Given the description of an element on the screen output the (x, y) to click on. 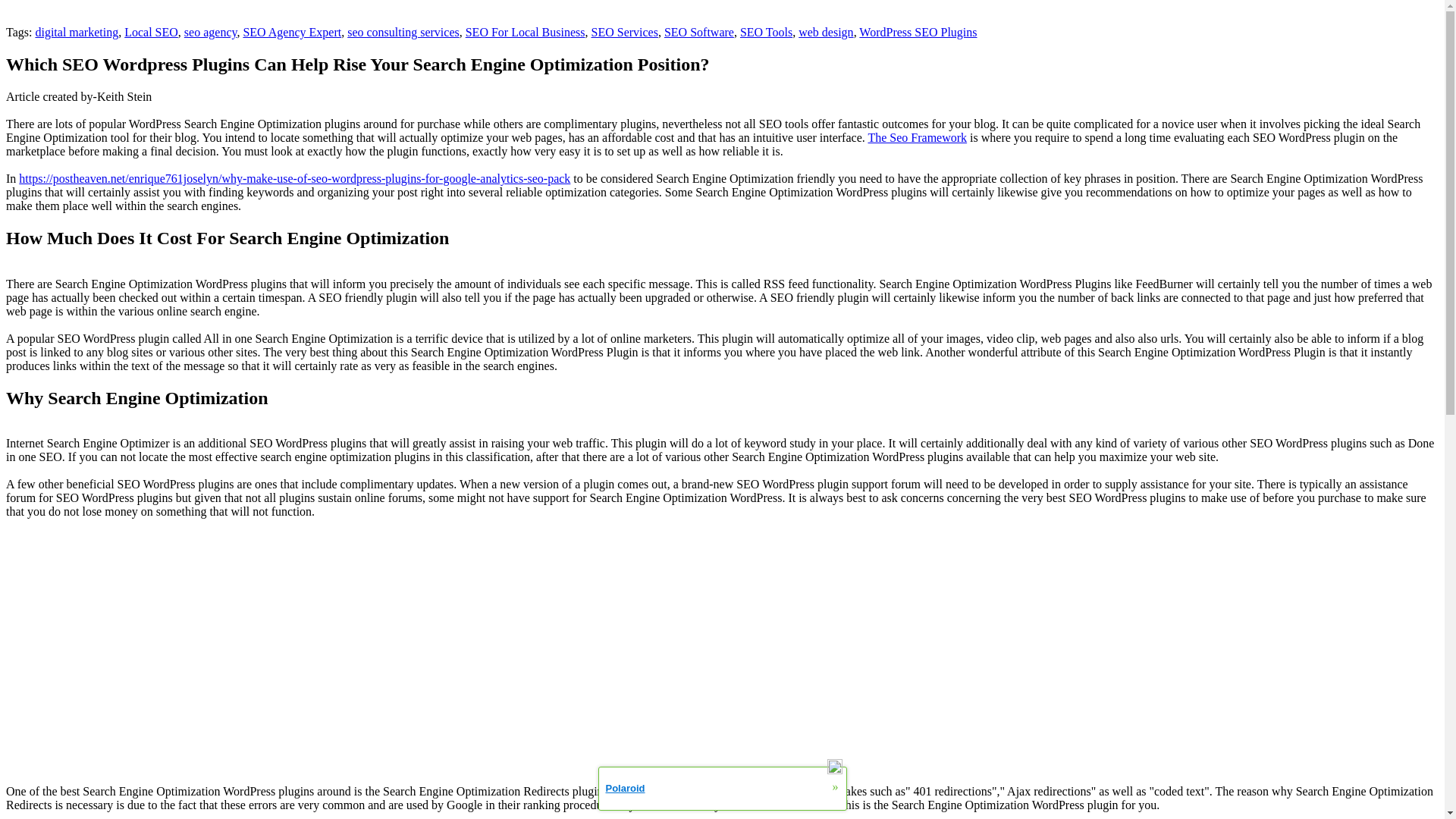
SEO Tools (765, 31)
The Seo Framework (916, 137)
SEO Agency Expert (291, 31)
seo agency (210, 31)
SEO For Local Business (525, 31)
Local SEO (150, 31)
SEO Services (624, 31)
seo consulting services (403, 31)
SEO Software (698, 31)
WordPress SEO Plugins (917, 31)
web design (825, 31)
digital marketing (75, 31)
